Given the description of an element on the screen output the (x, y) to click on. 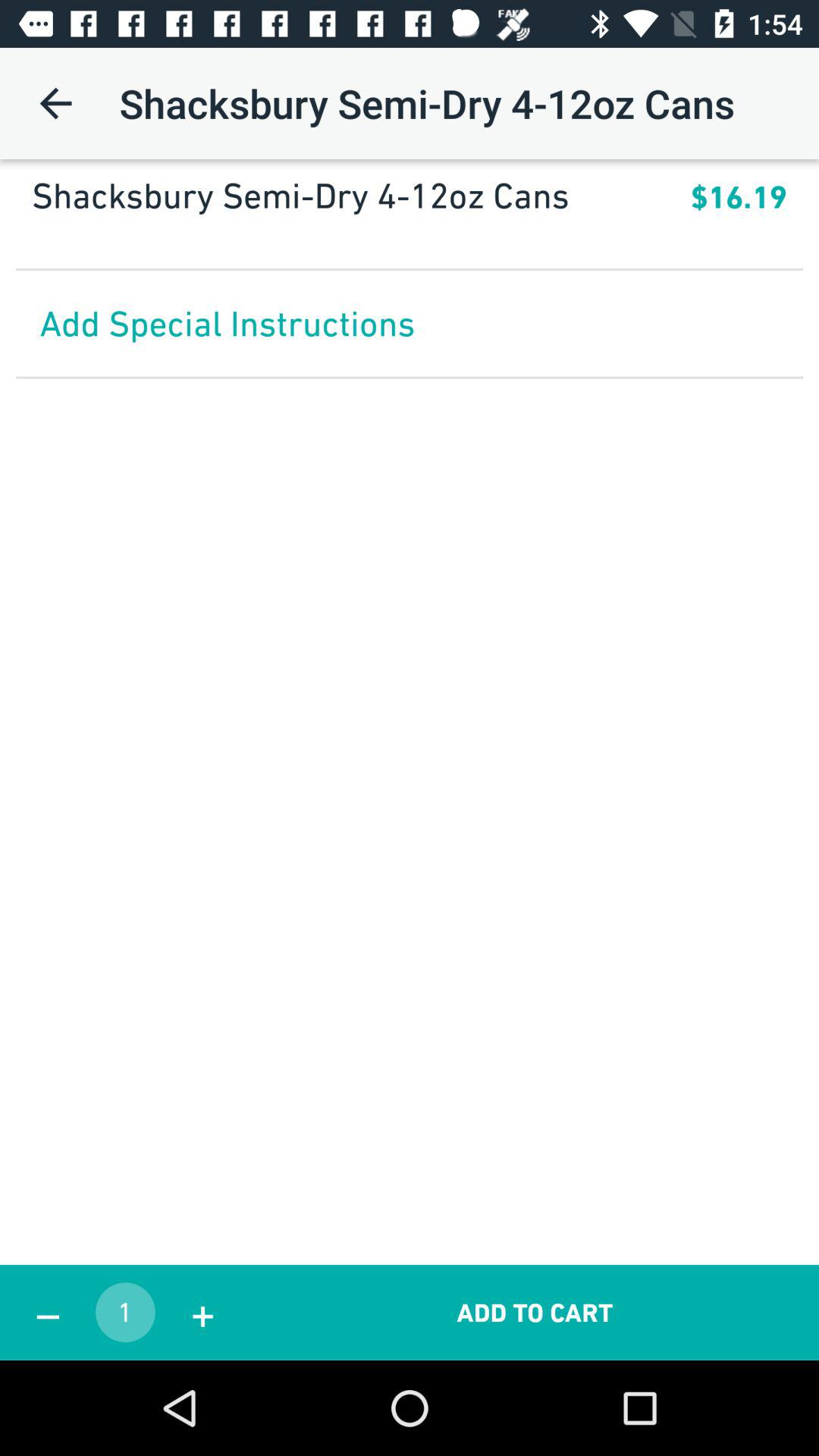
select the icon next to the shacksbury semi dry icon (55, 103)
